Given the description of an element on the screen output the (x, y) to click on. 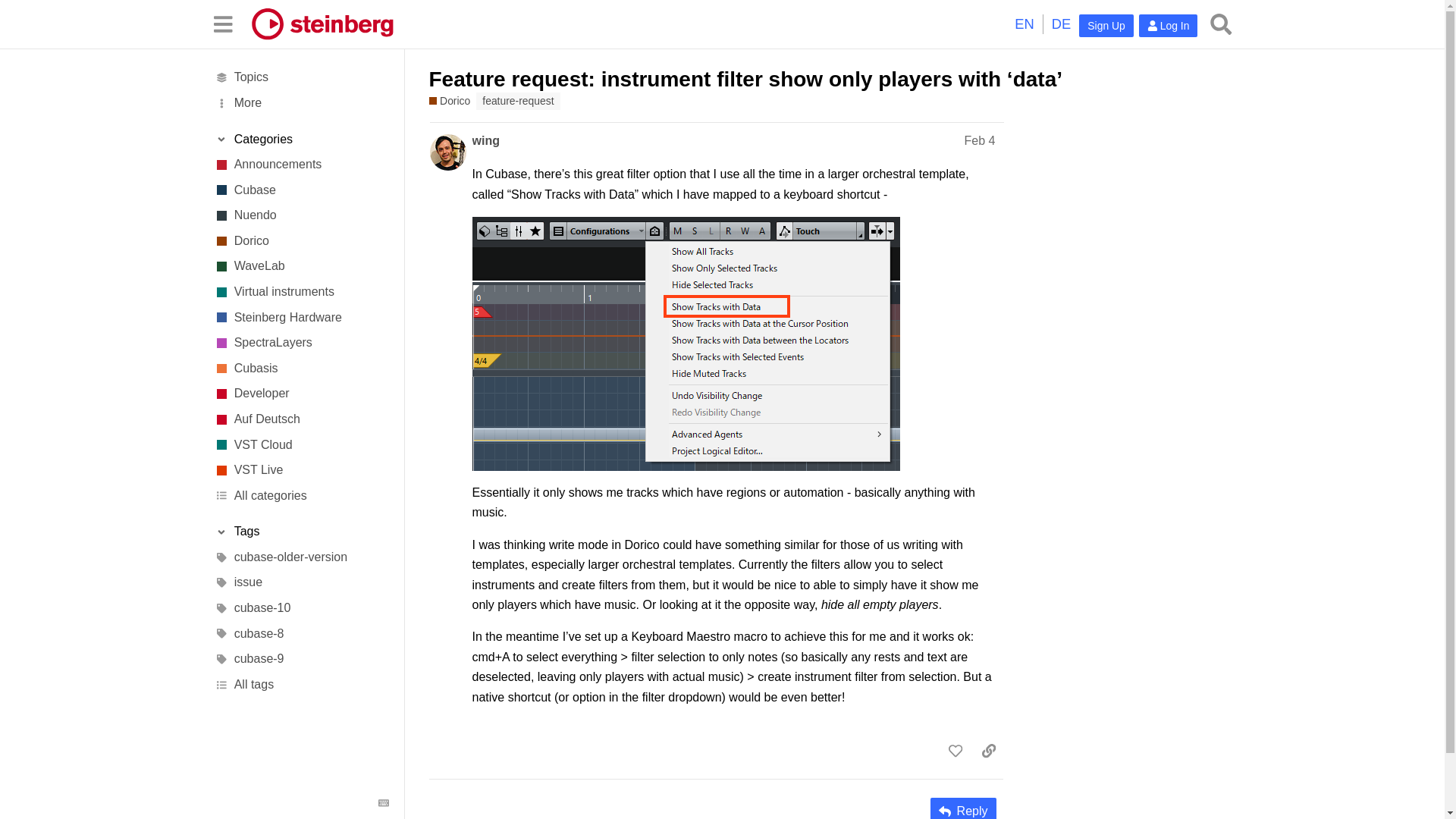
Dorico (301, 240)
Virtual instruments (301, 291)
Professional music notation and composition software. (301, 240)
Developer Forums (301, 394)
Sidebar (222, 23)
All topics (301, 77)
Sign Up (1105, 25)
Professional music production software. (301, 190)
cubase-9 (301, 659)
Toggle section (301, 139)
Search (1220, 23)
EN (1024, 23)
Toggle section (301, 532)
Steinberg Hardware (301, 317)
cubase-older-version (301, 557)
